Given the description of an element on the screen output the (x, y) to click on. 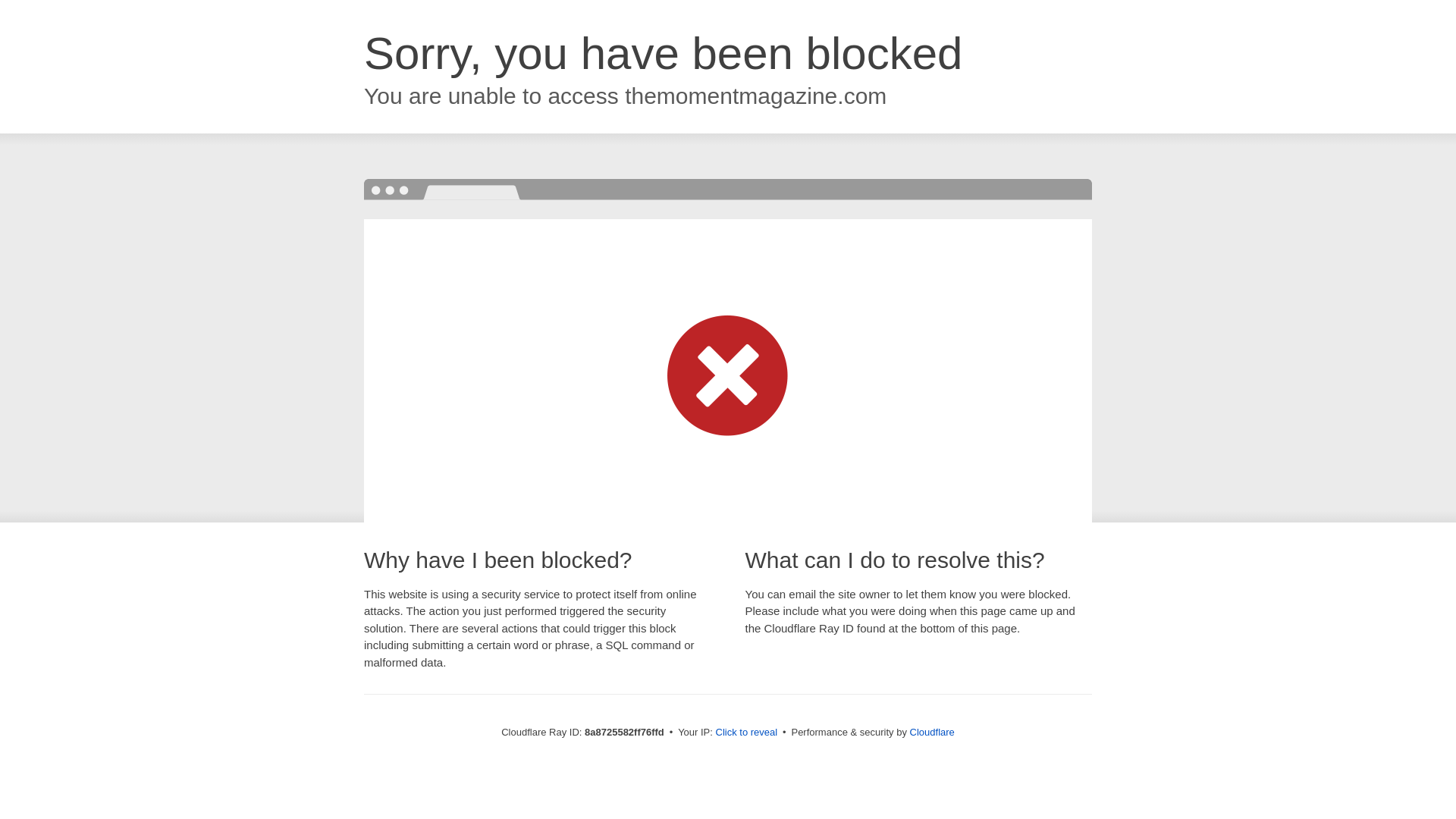
Click to reveal (746, 732)
Cloudflare (932, 731)
